Given the description of an element on the screen output the (x, y) to click on. 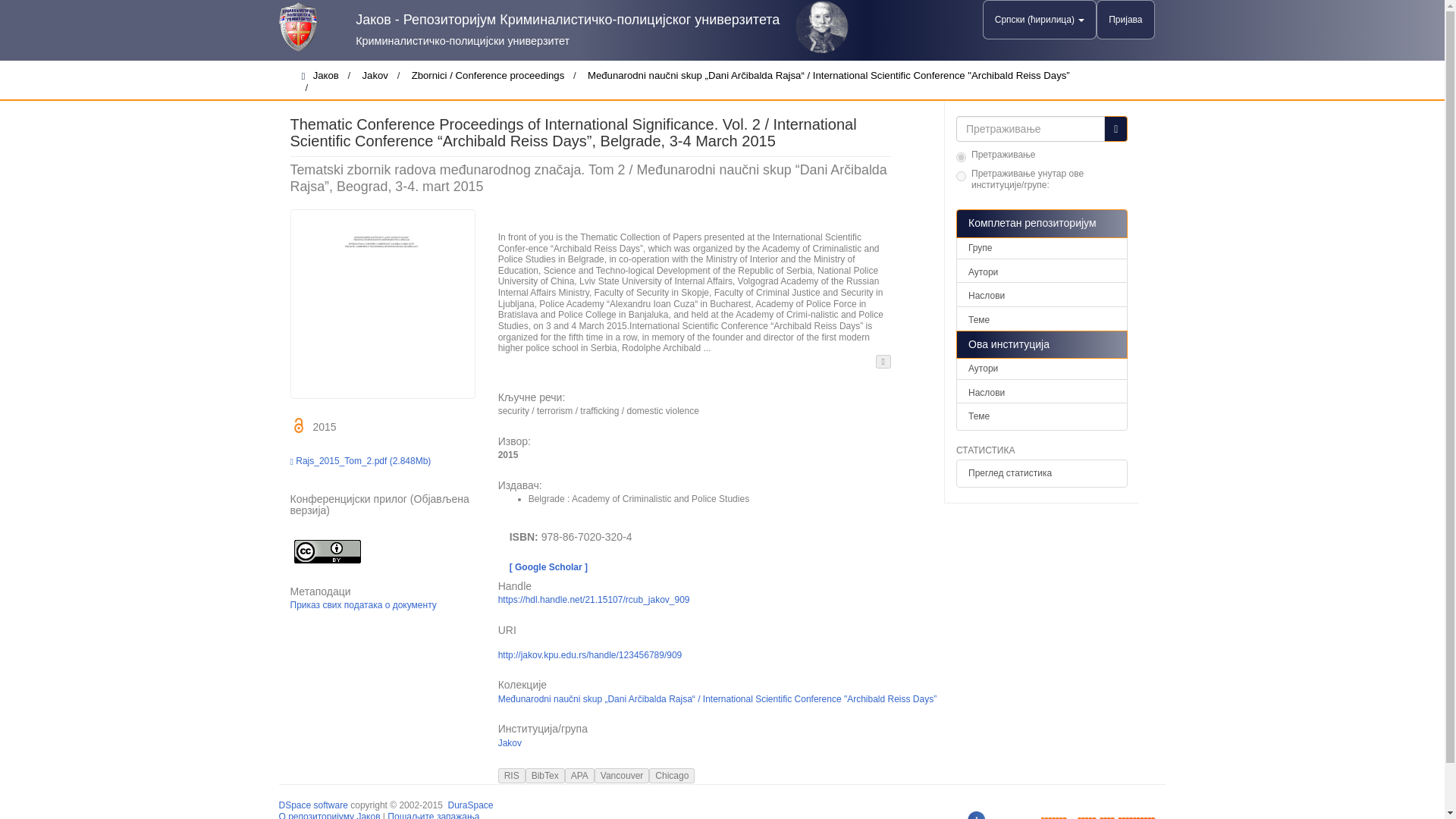
Jakov (374, 75)
RIS (511, 774)
BibTex (544, 774)
Jakov (509, 742)
Creative Commons License (326, 550)
